Given the description of an element on the screen output the (x, y) to click on. 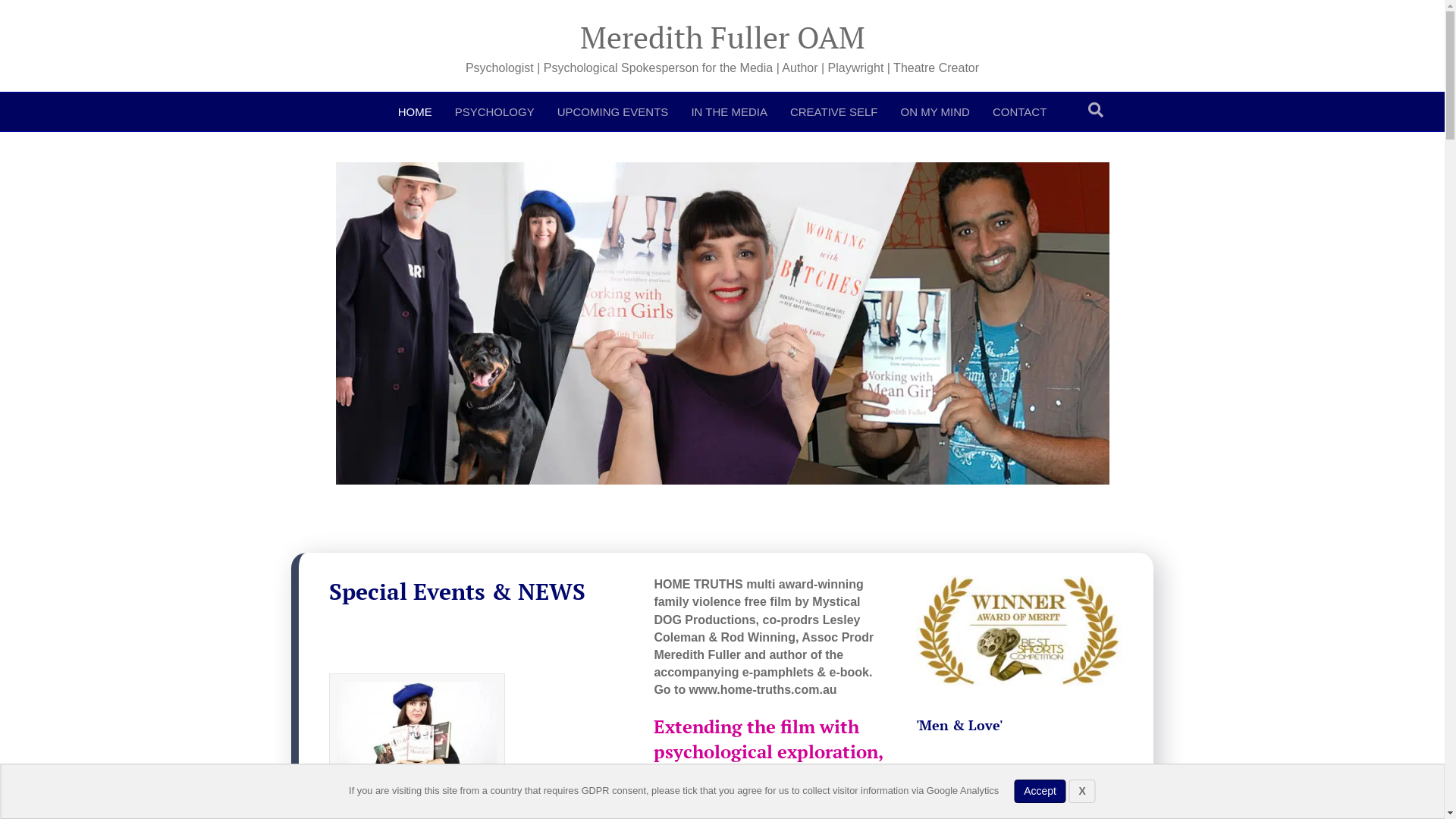
IN THE MEDIA Element type: text (728, 111)
HOME Element type: text (414, 111)
Meredith Fuller OAM Element type: text (721, 37)
PSYCHOLOGY Element type: text (494, 111)
CONTACT Element type: text (1019, 111)
CREATIVE SELF Element type: text (833, 111)
ON MY MIND Element type: text (935, 111)
X Element type: text (1082, 791)
Award logo Element type: hover (1019, 630)
UPCOMING EVENTS Element type: text (613, 111)
Accept Element type: text (1039, 791)
meredith fuller Element type: hover (721, 323)
